Given the description of an element on the screen output the (x, y) to click on. 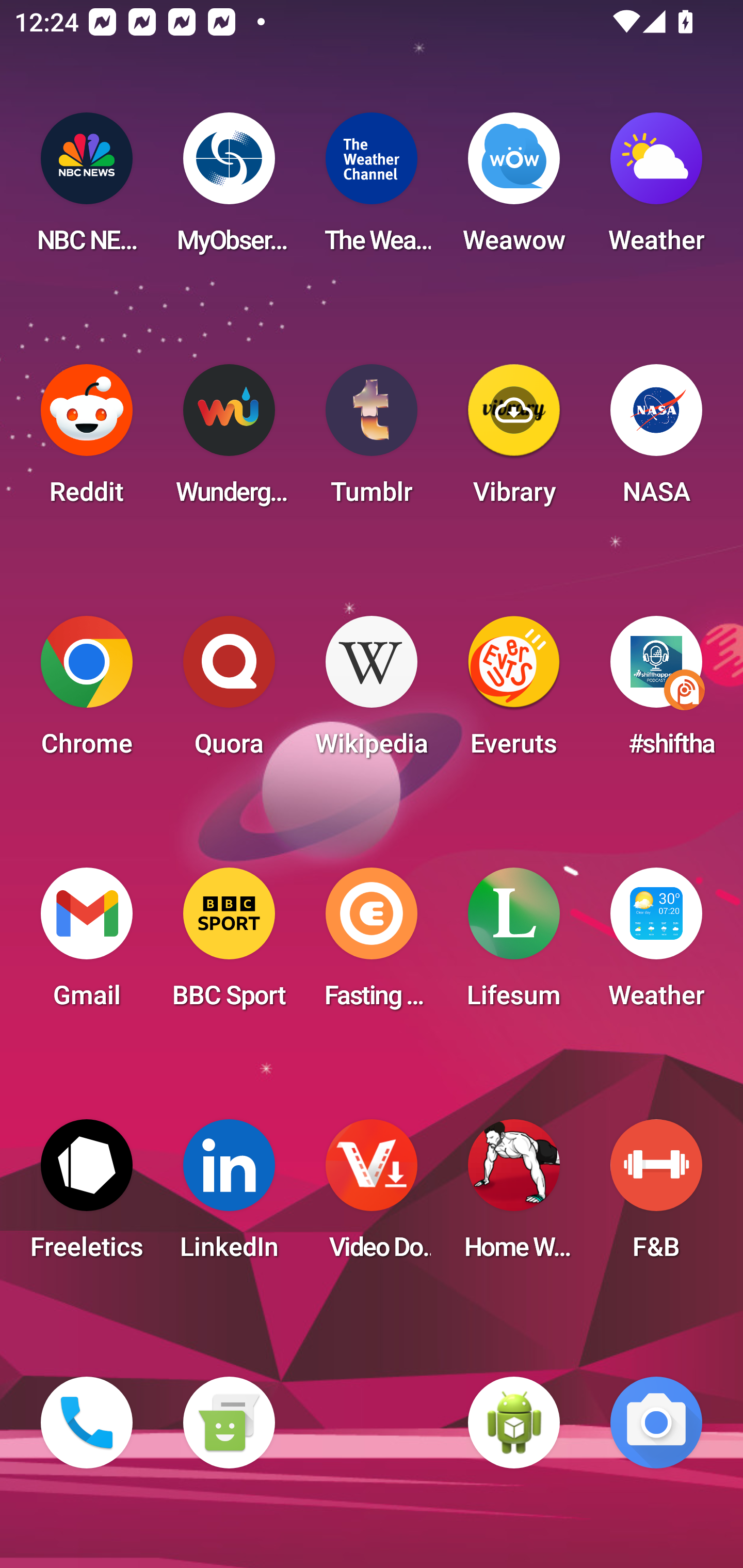
NBC NEWS (86, 188)
MyObservatory (228, 188)
The Weather Channel (371, 188)
Weawow (513, 188)
Weather (656, 188)
Reddit (86, 440)
Wunderground (228, 440)
Tumblr (371, 440)
Vibrary (513, 440)
NASA (656, 440)
Chrome (86, 692)
Quora (228, 692)
Wikipedia (371, 692)
Everuts (513, 692)
#shifthappens in the Digital Workplace Podcast (656, 692)
Gmail (86, 943)
BBC Sport (228, 943)
Fasting Coach (371, 943)
Lifesum (513, 943)
Weather (656, 943)
Freeletics (86, 1195)
LinkedIn (228, 1195)
Video Downloader & Ace Player (371, 1195)
Home Workout (513, 1195)
F&B (656, 1195)
Phone (86, 1422)
Messaging (228, 1422)
WebView Browser Tester (513, 1422)
Camera (656, 1422)
